Given the description of an element on the screen output the (x, y) to click on. 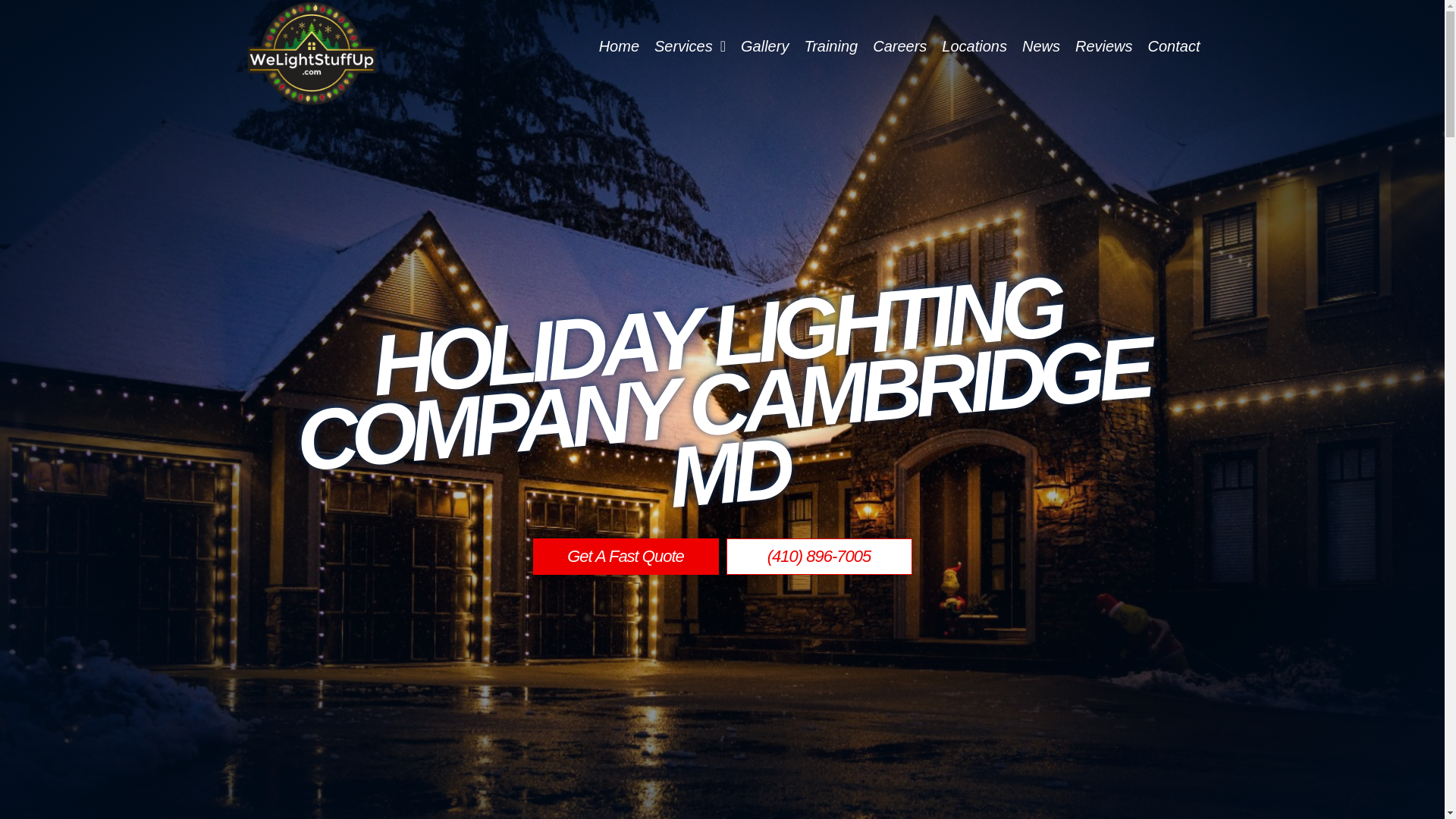
Home (618, 45)
Contact (1174, 45)
Services (689, 45)
Reviews (1103, 45)
Get A Fast Quote (969, 76)
Careers (899, 45)
Training (830, 45)
News (1040, 45)
Gallery (764, 45)
Locations (974, 45)
Get A Fast Quote (624, 556)
